Given the description of an element on the screen output the (x, y) to click on. 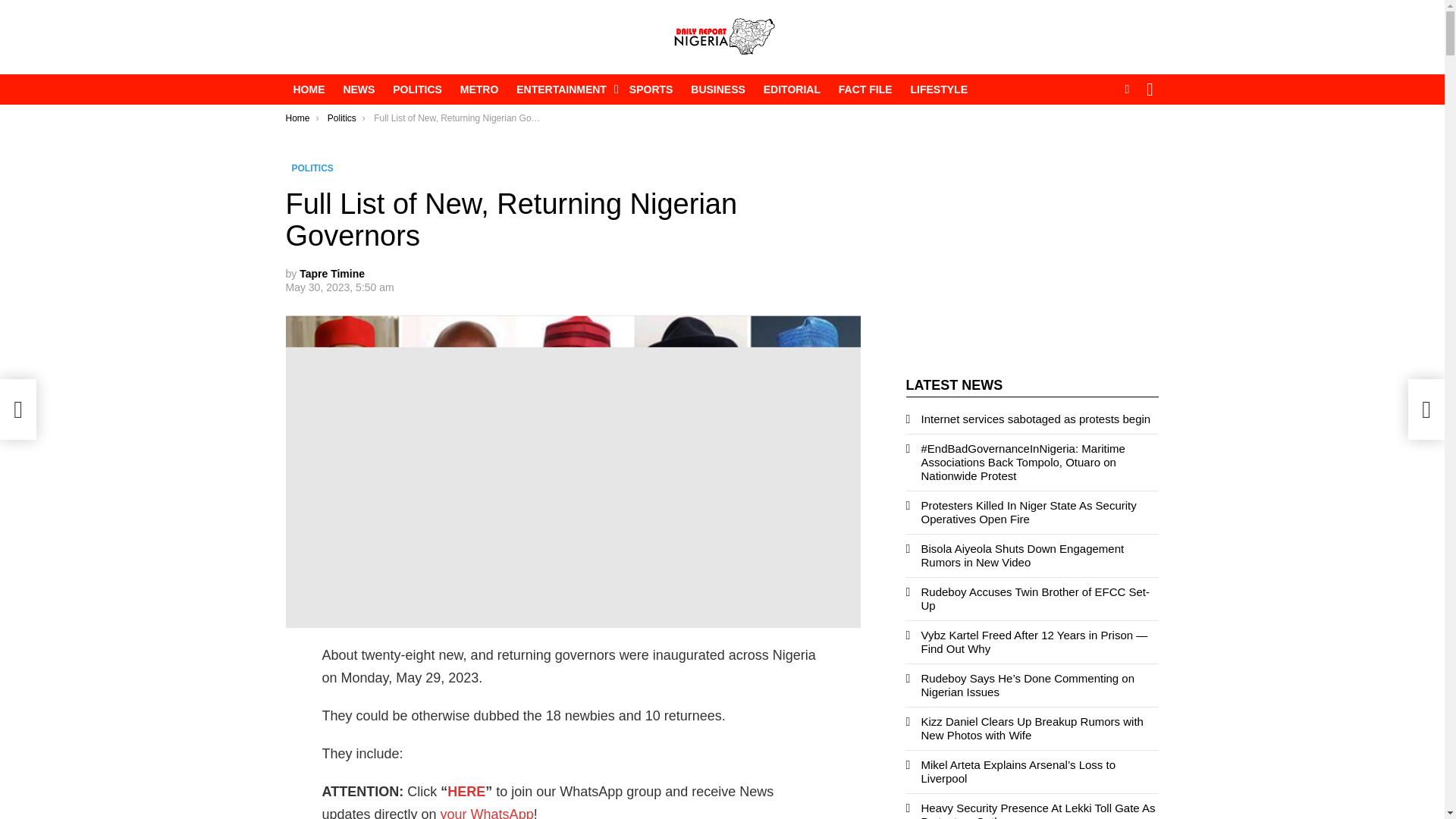
NEWS (357, 88)
Posts by Tapre Timine (332, 273)
LIFESTYLE (938, 88)
FACT FILE (865, 88)
SPORTS (651, 88)
METRO (479, 88)
HOME (308, 88)
POLITICS (417, 88)
EDITORIAL (791, 88)
BUSINESS (717, 88)
ENTERTAINMENT (563, 88)
